Given the description of an element on the screen output the (x, y) to click on. 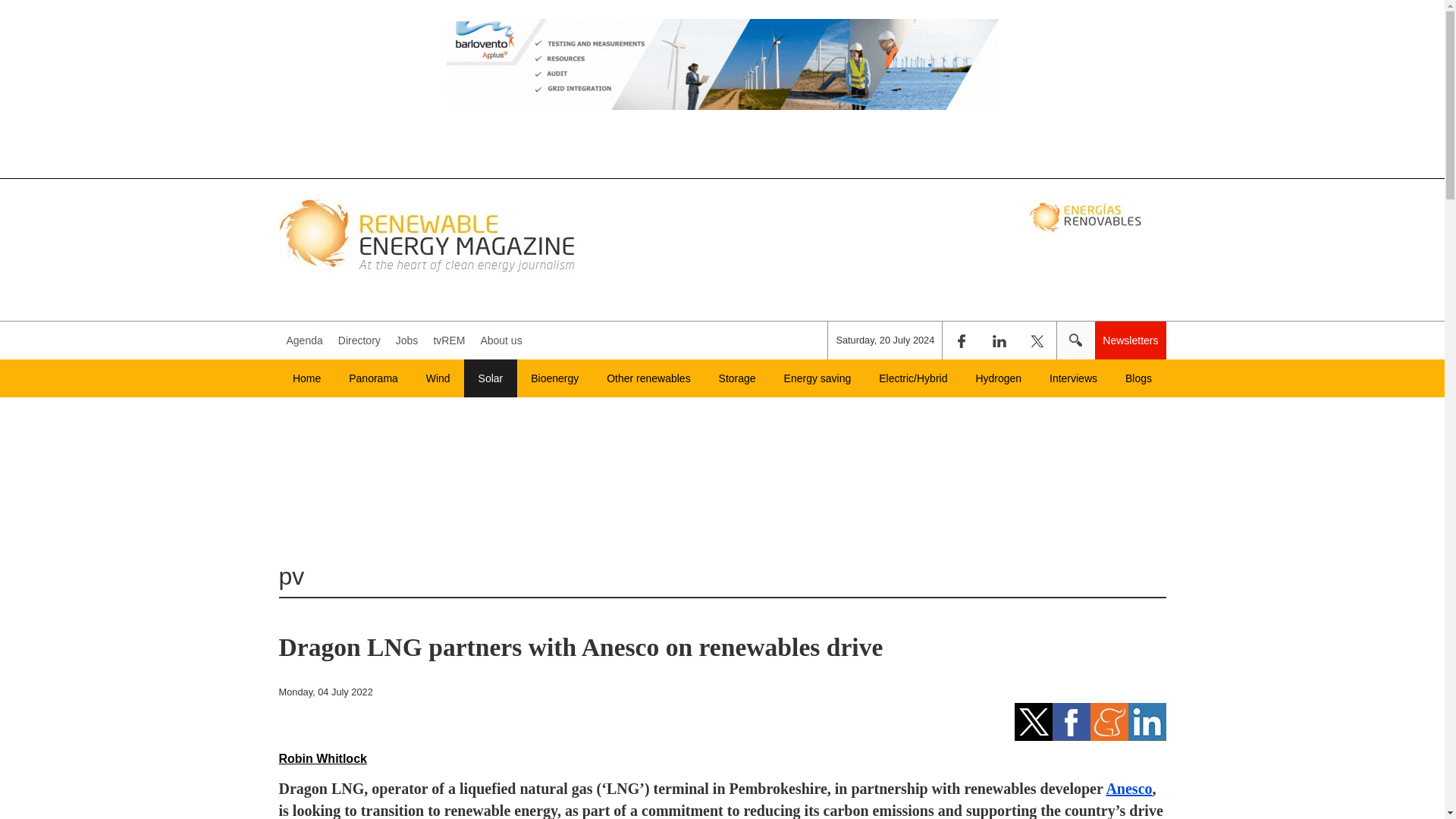
Home (306, 378)
Newsletters (1130, 340)
Go to About us (500, 340)
Panorama (373, 378)
Barlovento  (722, 63)
Hydrogen (997, 378)
Go to Companies directory (359, 340)
Wind (438, 378)
Blogs (1139, 378)
Barlovento  (722, 86)
Jobs (407, 340)
Ir a Inicio (429, 234)
Agenda (304, 340)
About us (500, 340)
Storage (737, 378)
